Given the description of an element on the screen output the (x, y) to click on. 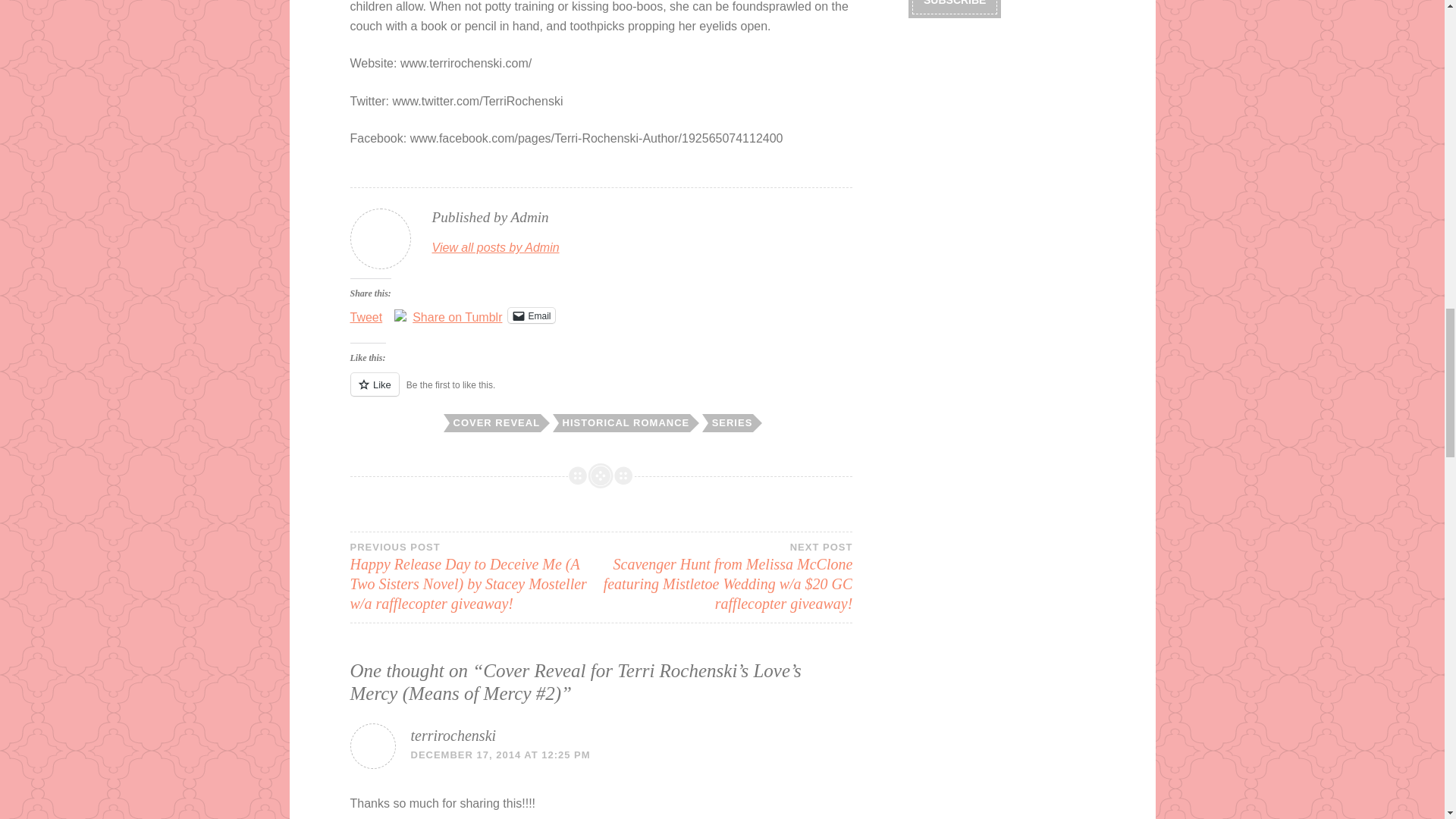
HISTORICAL ROMANCE (623, 423)
Like or Reblog (601, 393)
Tweet (366, 314)
Click to email a link to a friend (531, 314)
Share on Tumblr (457, 314)
COVER REVEAL (495, 423)
SERIES (730, 423)
Email (531, 314)
View all posts by Admin (495, 247)
Share on Tumblr (457, 314)
Subscribe (954, 7)
DECEMBER 17, 2014 AT 12:25 PM (500, 754)
